Given the description of an element on the screen output the (x, y) to click on. 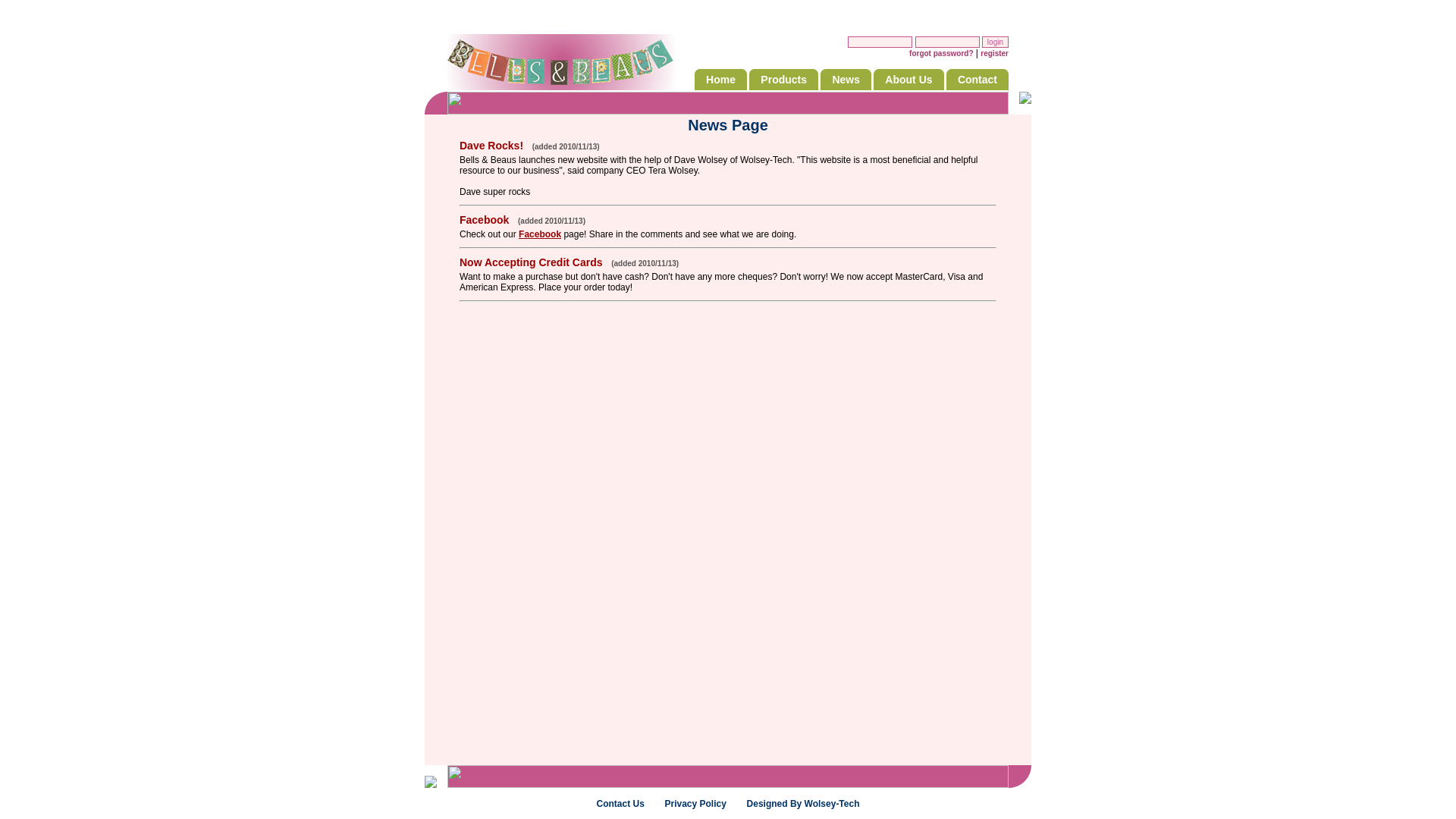
login Element type: text (995, 41)
About Us Element type: text (907, 79)
Designed By Wolsey-Tech Element type: text (802, 803)
News Element type: text (845, 79)
Contact Element type: text (977, 79)
forgot password? Element type: text (940, 53)
Products Element type: text (783, 79)
register Element type: text (994, 53)
Home Element type: text (720, 79)
Contact Us Element type: text (619, 803)
Privacy Policy Element type: text (694, 803)
Facebook Element type: text (539, 234)
